Given the description of an element on the screen output the (x, y) to click on. 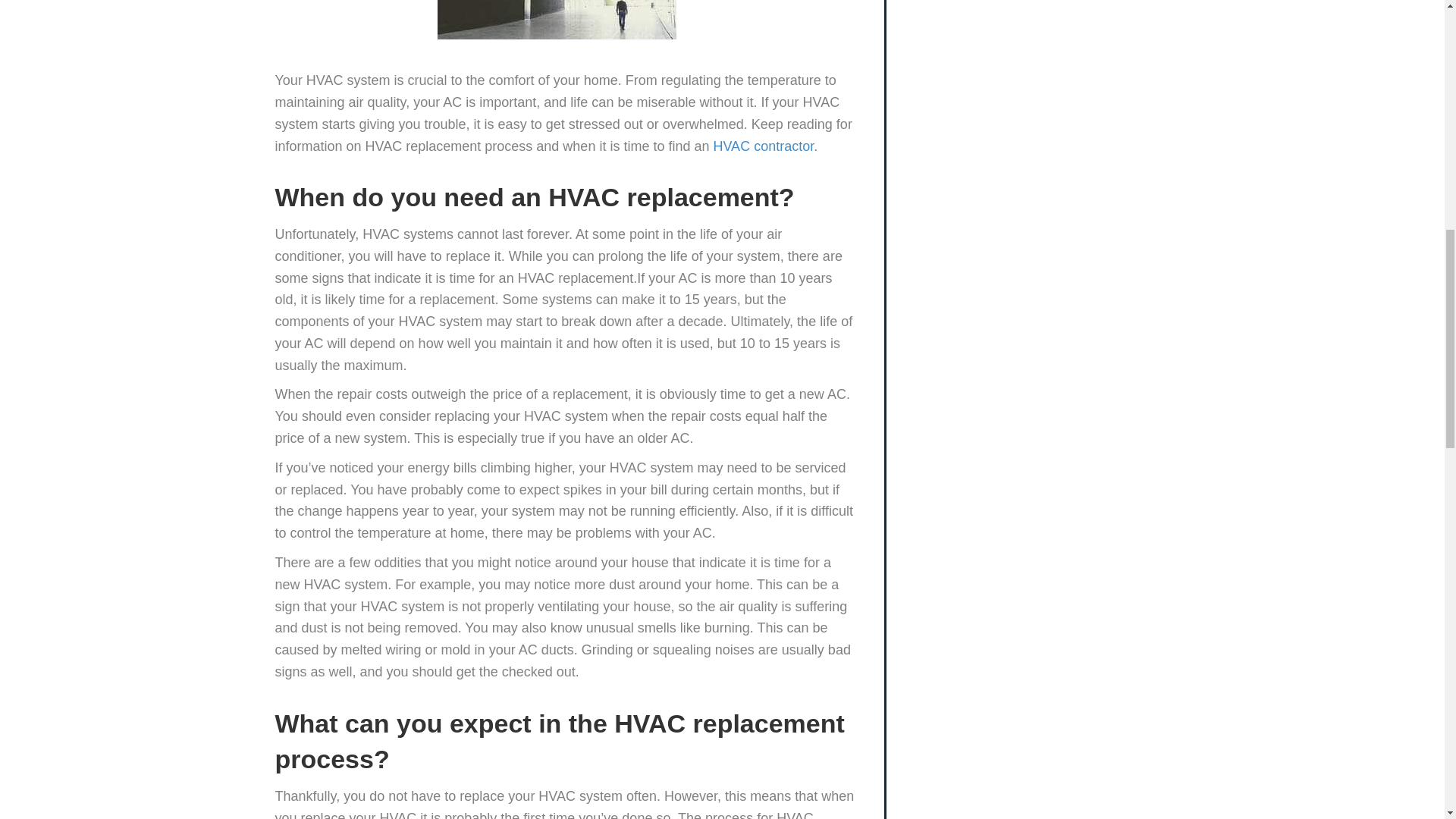
HVAC contractor (763, 145)
